Given the description of an element on the screen output the (x, y) to click on. 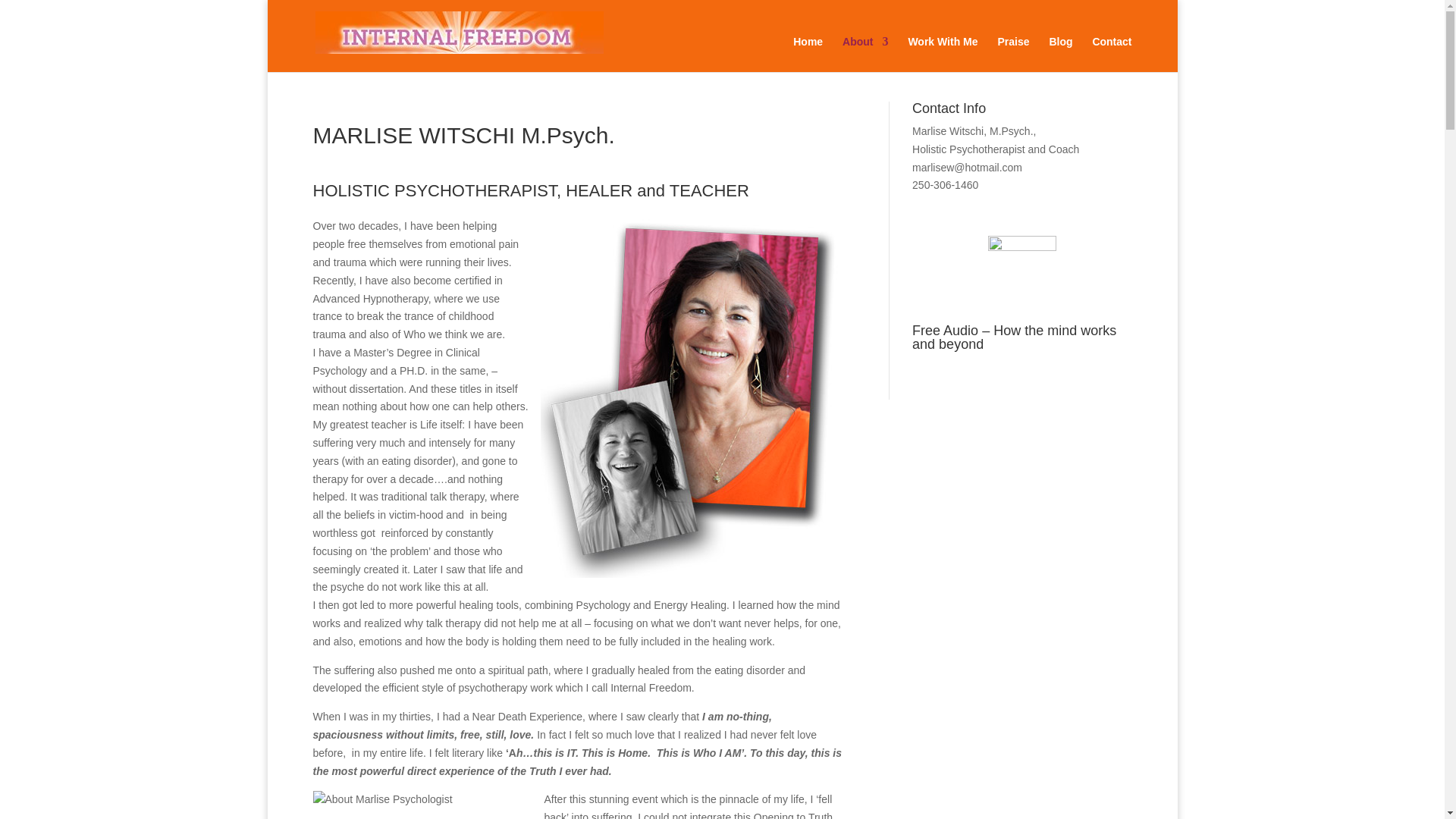
Praise (1013, 54)
About (865, 54)
Contact (1111, 54)
Work With Me (941, 54)
